Given the description of an element on the screen output the (x, y) to click on. 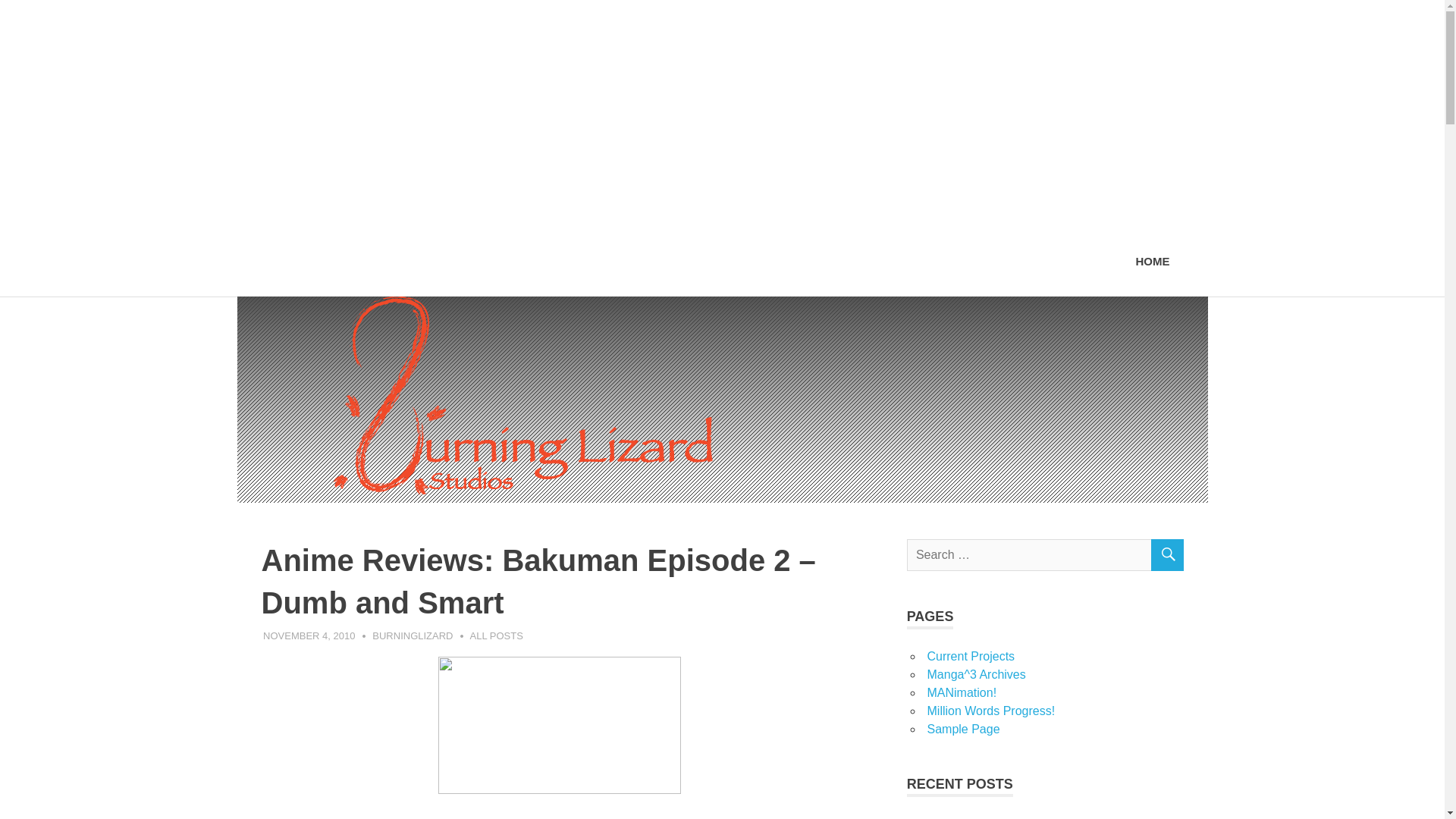
NOVEMBER 4, 2010 (309, 635)
ALL POSTS (496, 635)
MANimation! (960, 692)
Search for: (1045, 554)
HOME (1152, 261)
12:03 AM (309, 635)
View all posts by BurningLizard (412, 635)
Sample Page (962, 728)
Current Projects (970, 656)
BURNINGLIZARD (412, 635)
Million Words Progress! (990, 710)
